Given the description of an element on the screen output the (x, y) to click on. 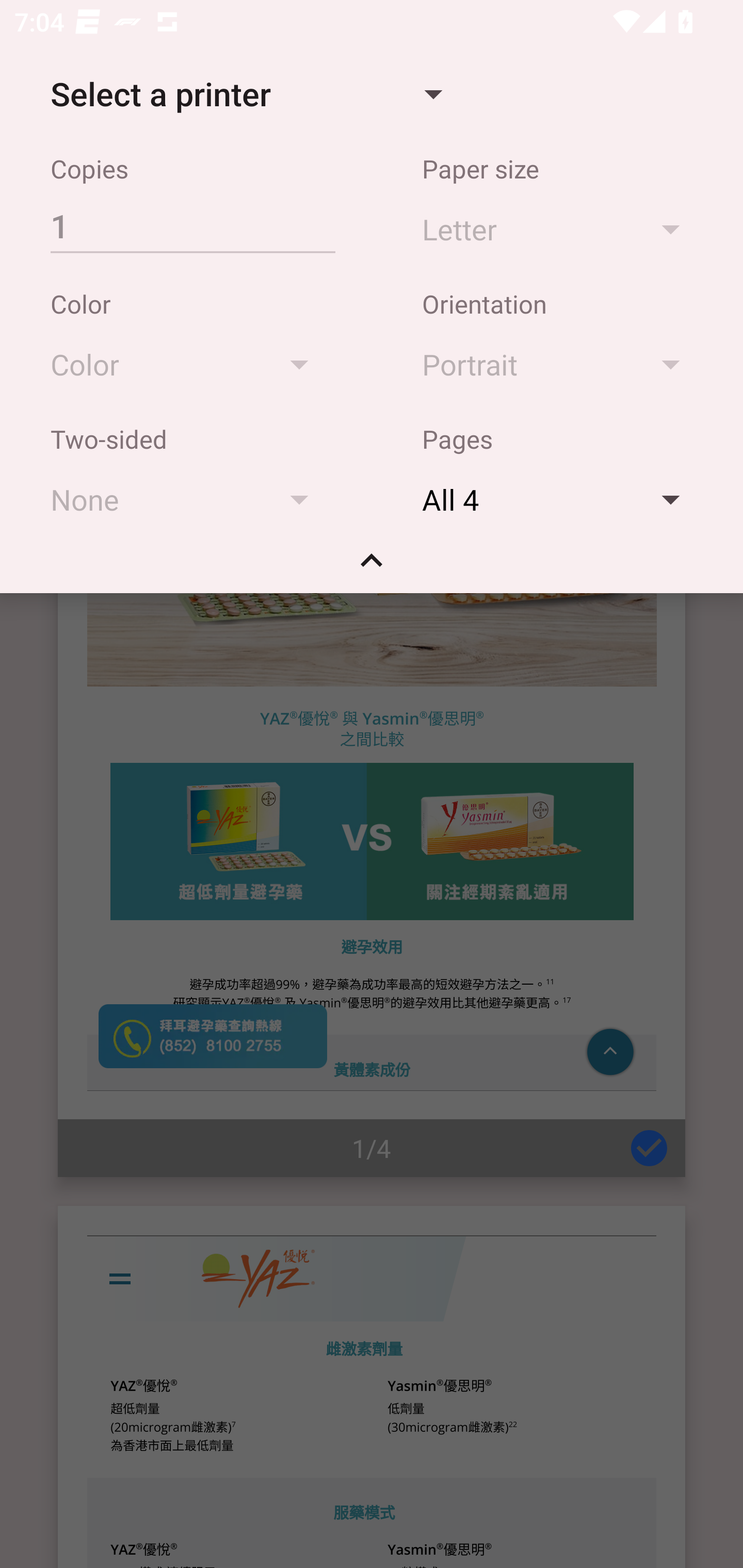
Select a printer (245, 93)
1 (192, 225)
Letter (560, 228)
Color (189, 364)
Portrait (560, 364)
None (189, 499)
All 4 (560, 499)
Collapse handle (371, 567)
